Given the description of an element on the screen output the (x, y) to click on. 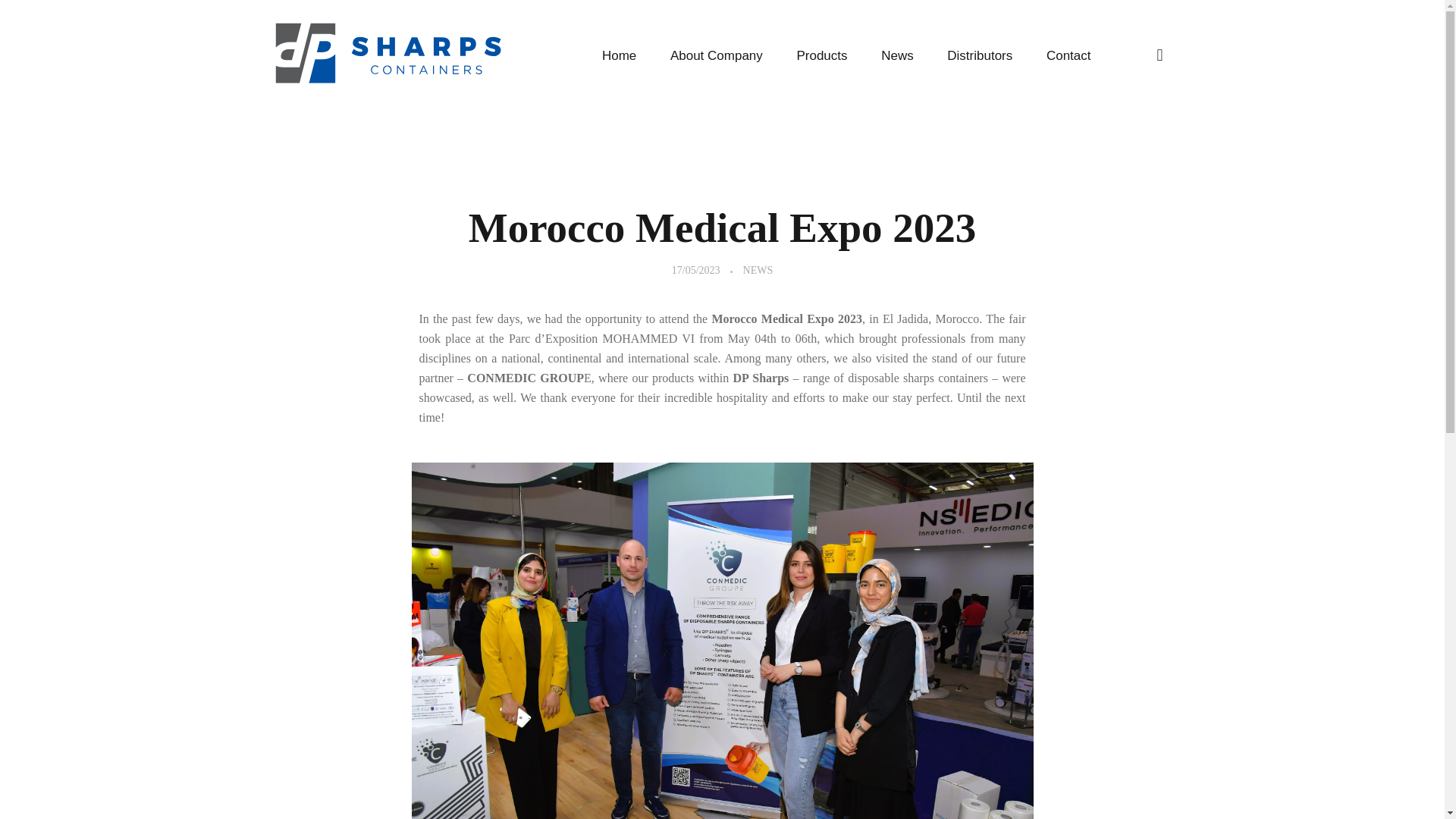
DP Sharps (388, 52)
Products (821, 55)
DP Sharps (320, 91)
View all posts in NEWS (757, 269)
DP Sharps (320, 91)
About Company (716, 55)
News (897, 55)
Distributors (979, 55)
NEWS (757, 269)
Contact (1059, 55)
Home (627, 55)
